Given the description of an element on the screen output the (x, y) to click on. 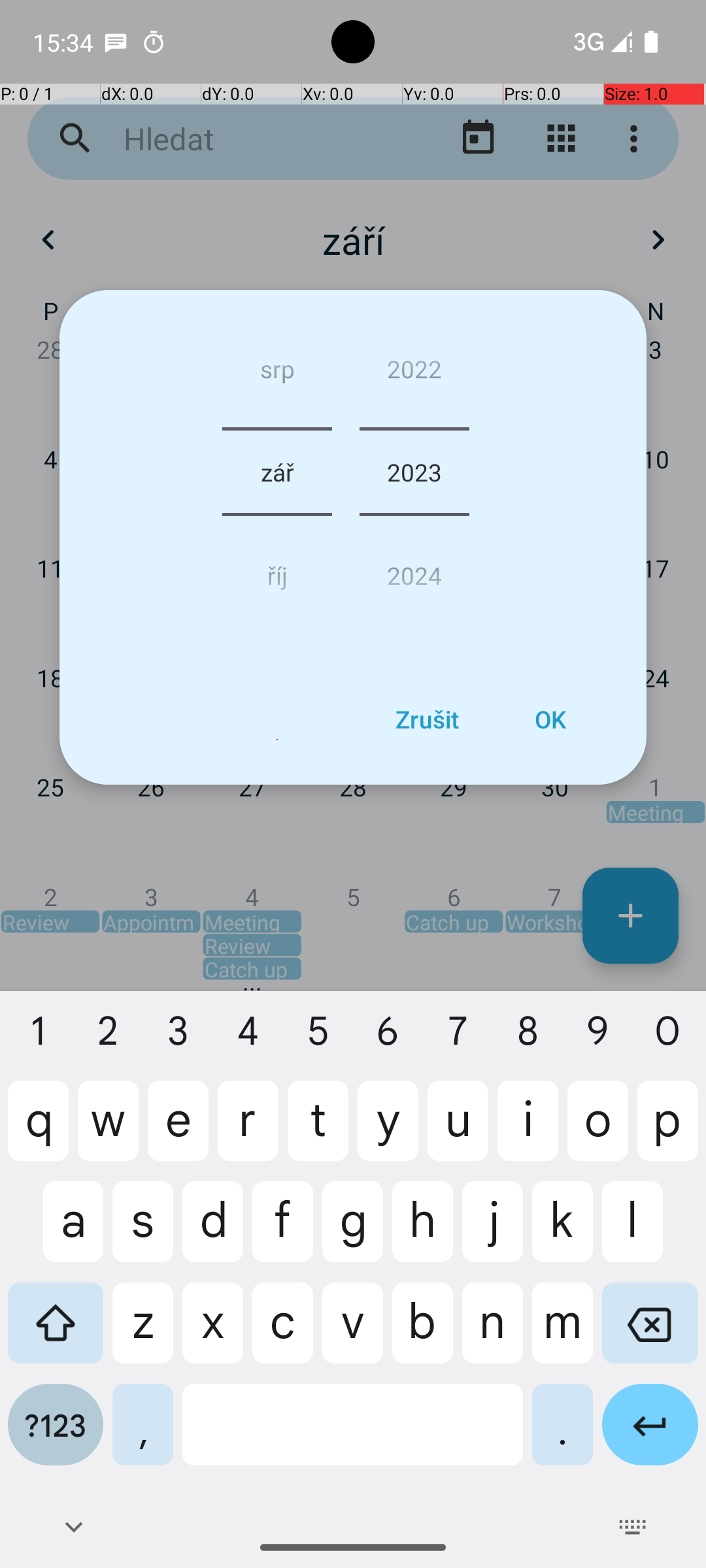
Zrušit Element type: android.widget.Button (426, 719)
srp Element type: android.widget.Button (277, 373)
zář Element type: android.widget.EditText (277, 471)
říj Element type: android.widget.Button (277, 569)
